Given the description of an element on the screen output the (x, y) to click on. 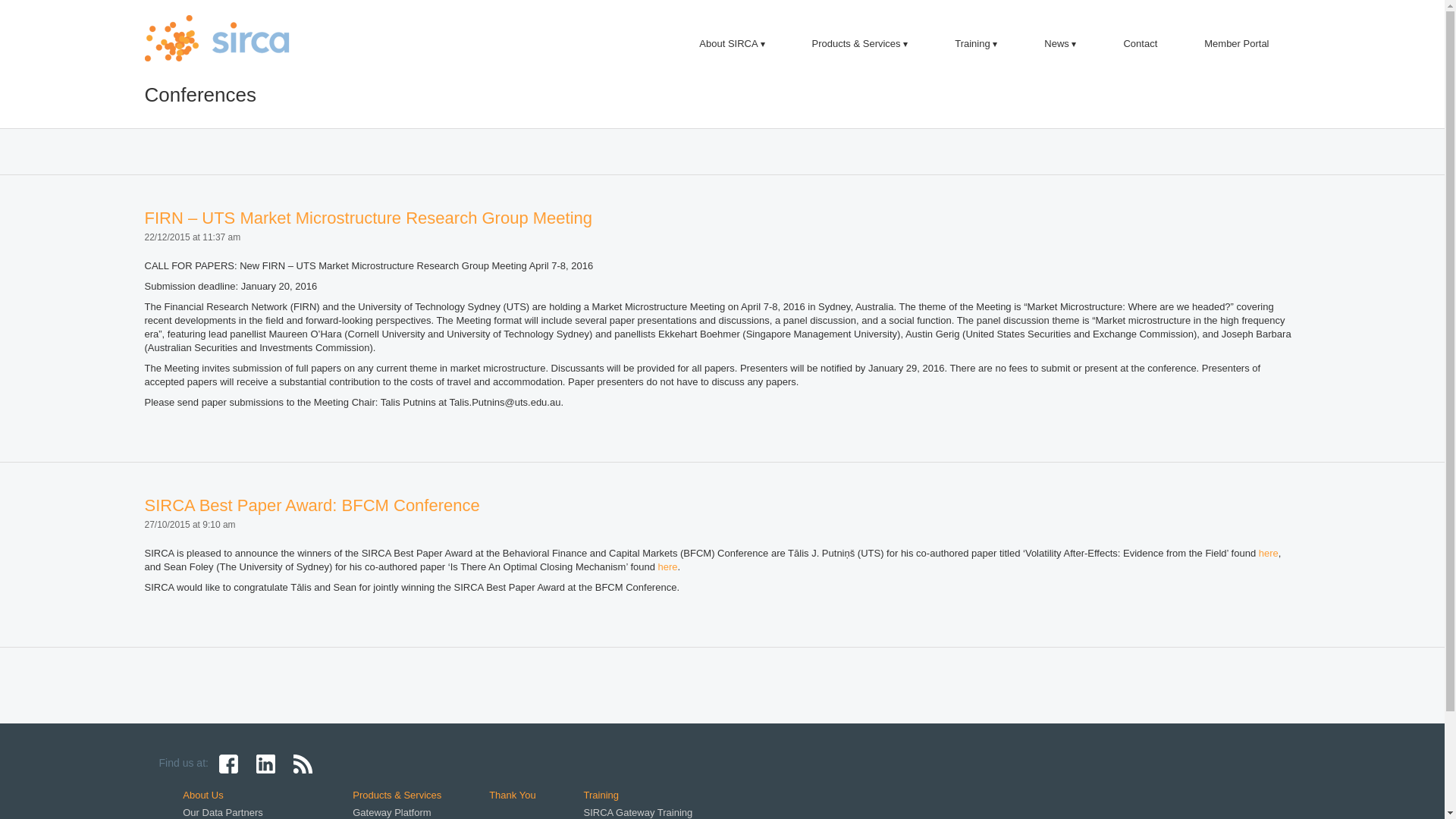
here Element type: text (667, 566)
About SIRCA Element type: text (731, 43)
Member Portal Element type: text (1236, 43)
Thank You Element type: text (512, 794)
Products & Services Element type: text (396, 794)
News Element type: text (1060, 43)
SIRCA Element type: hover (221, 38)
Training Element type: text (600, 794)
Training Element type: text (975, 43)
Our Data Partners Element type: text (222, 812)
Products & Services Element type: text (860, 43)
SIRCA Best Paper Award: BFCM Conference Element type: text (311, 504)
Skip to primary content Element type: text (696, 26)
About Us Element type: text (202, 794)
SIRCA Gateway Training Element type: text (638, 812)
here Element type: text (1268, 552)
Contact Element type: text (1140, 43)
Gateway Platform Element type: text (391, 812)
